Given the description of an element on the screen output the (x, y) to click on. 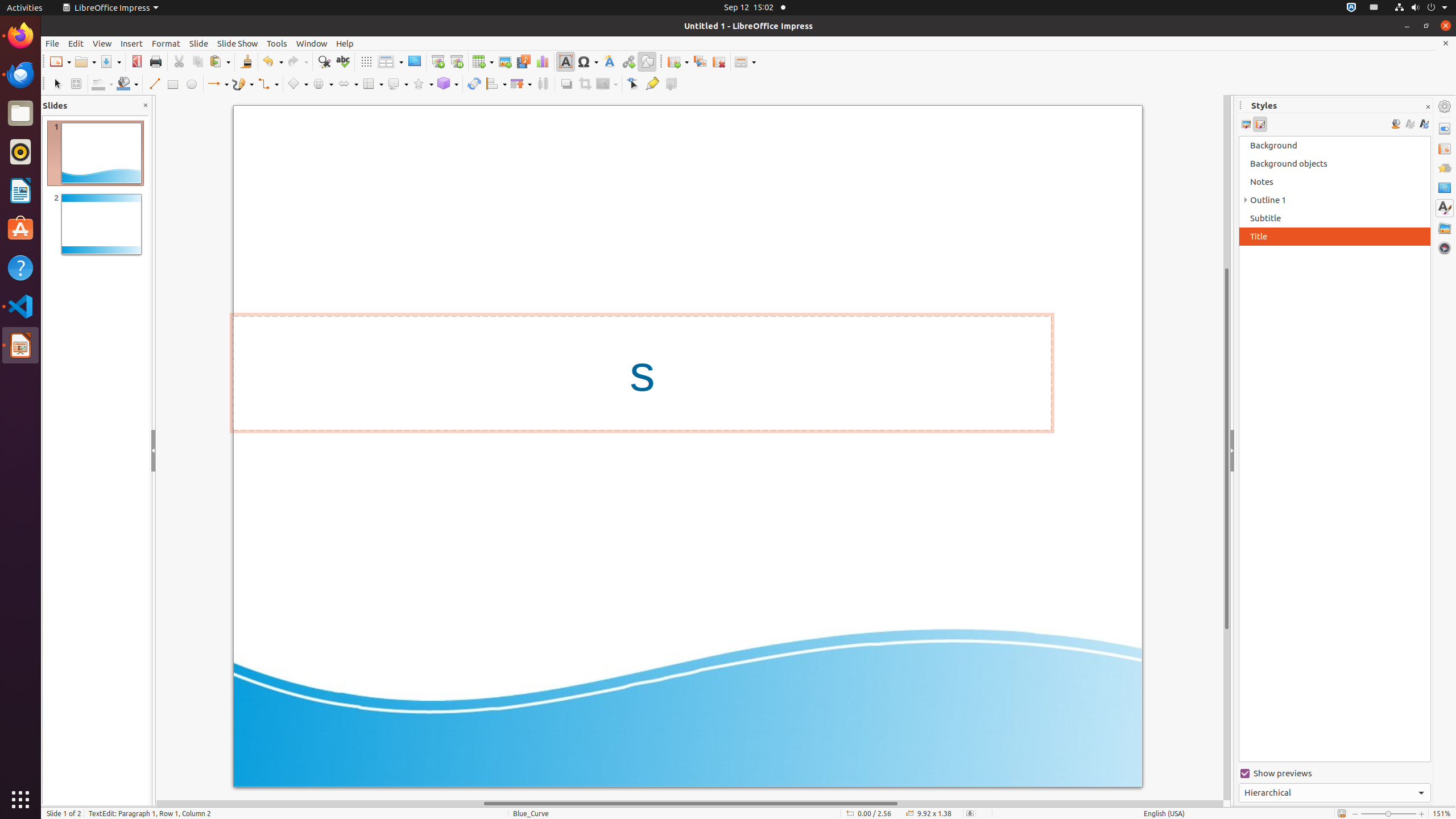
Arrow Shapes Element type: push-button (347, 83)
Redo Element type: push-button (296, 61)
Arrange Element type: push-button (520, 83)
View Element type: menu (102, 43)
Update Style Element type: push-button (1423, 123)
